Given the description of an element on the screen output the (x, y) to click on. 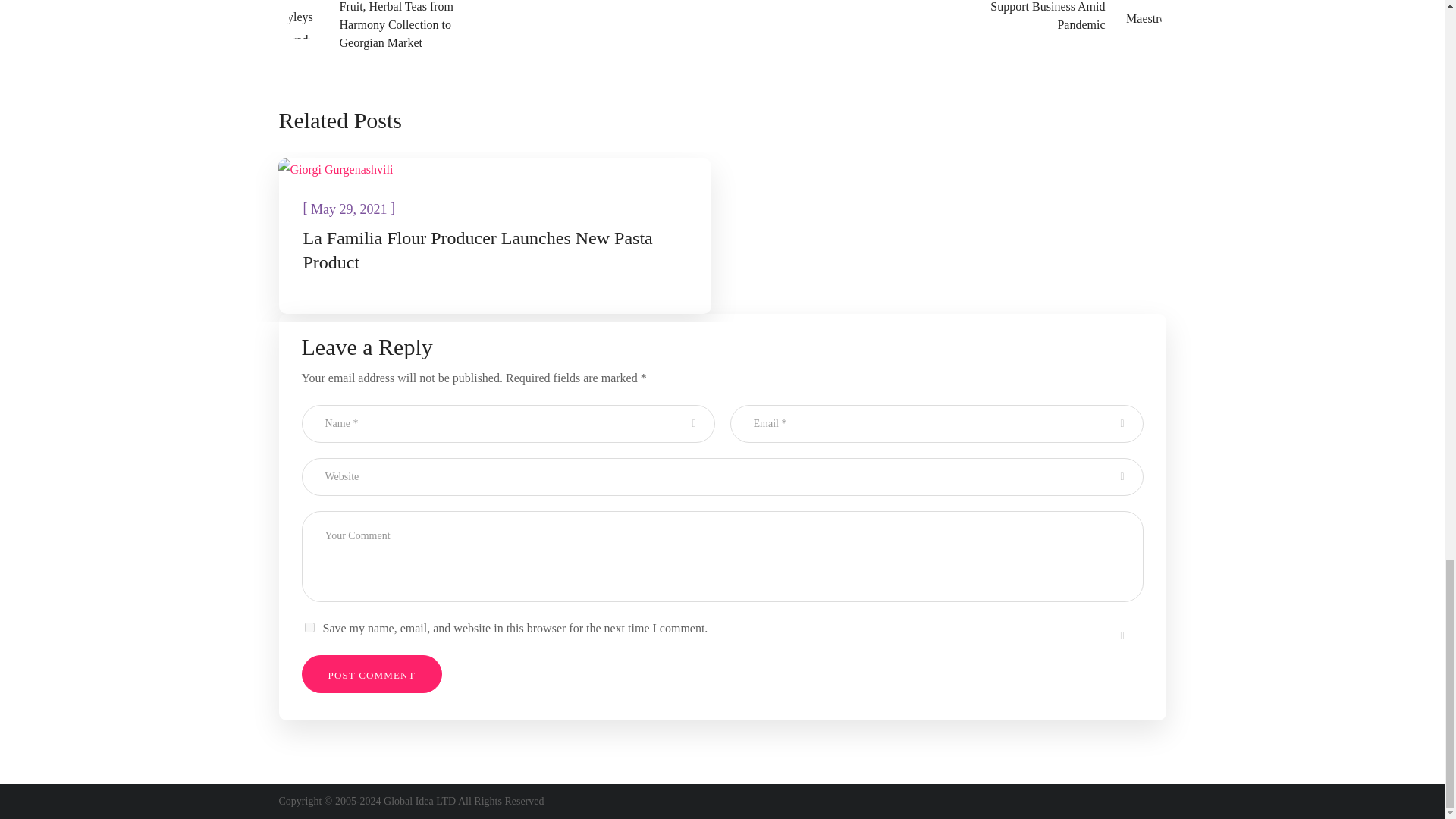
Radio Maestro Takes Steps to Support Business Amid Pandemic (1056, 18)
yes (309, 627)
Post Comment (371, 673)
Website (721, 476)
